Given the description of an element on the screen output the (x, y) to click on. 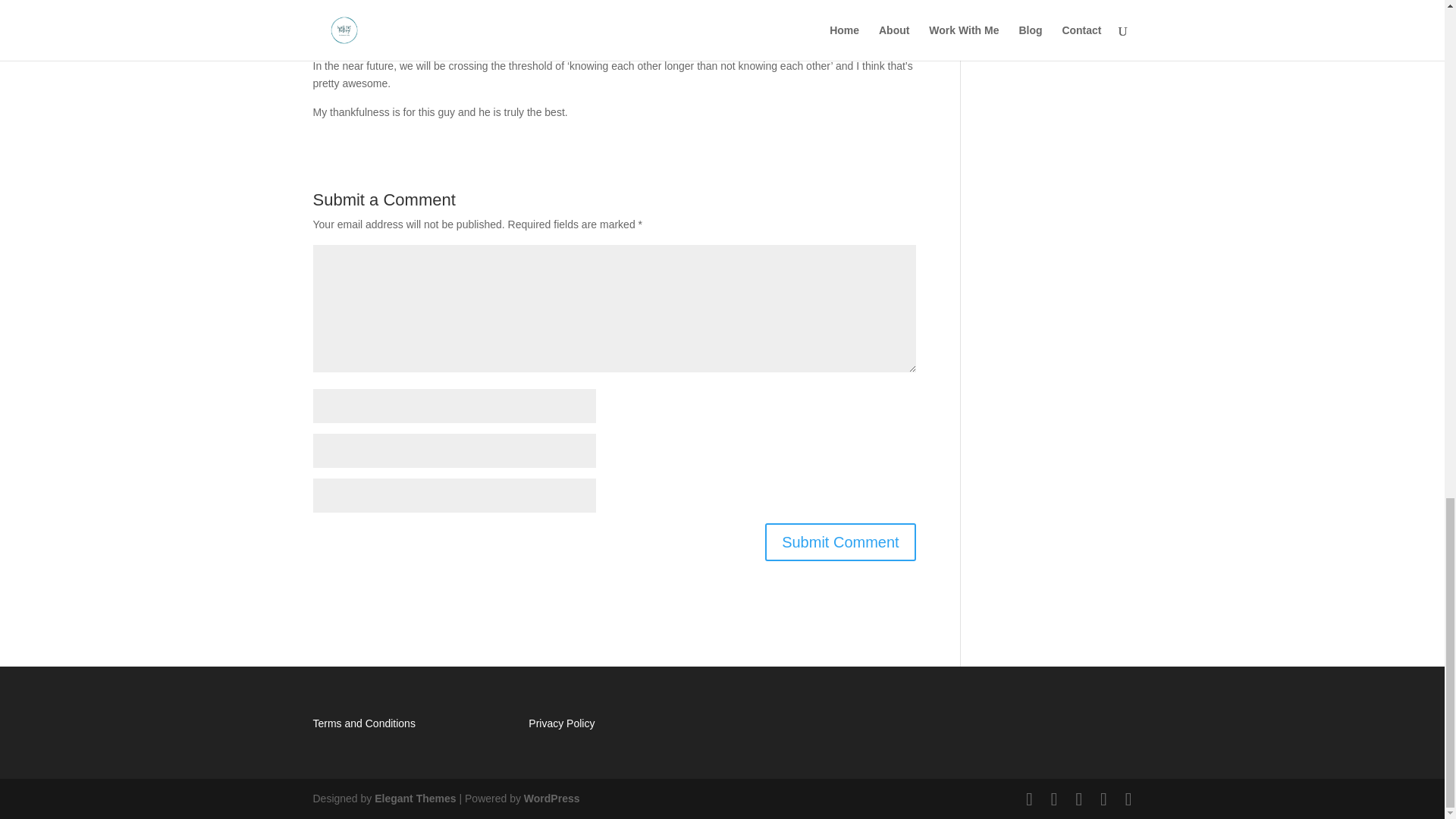
Privacy Policy (561, 723)
Premium WordPress Themes (414, 798)
Submit Comment (840, 542)
Elegant Themes (414, 798)
WordPress (551, 798)
Terms and Conditions (363, 723)
Submit Comment (840, 542)
